Given the description of an element on the screen output the (x, y) to click on. 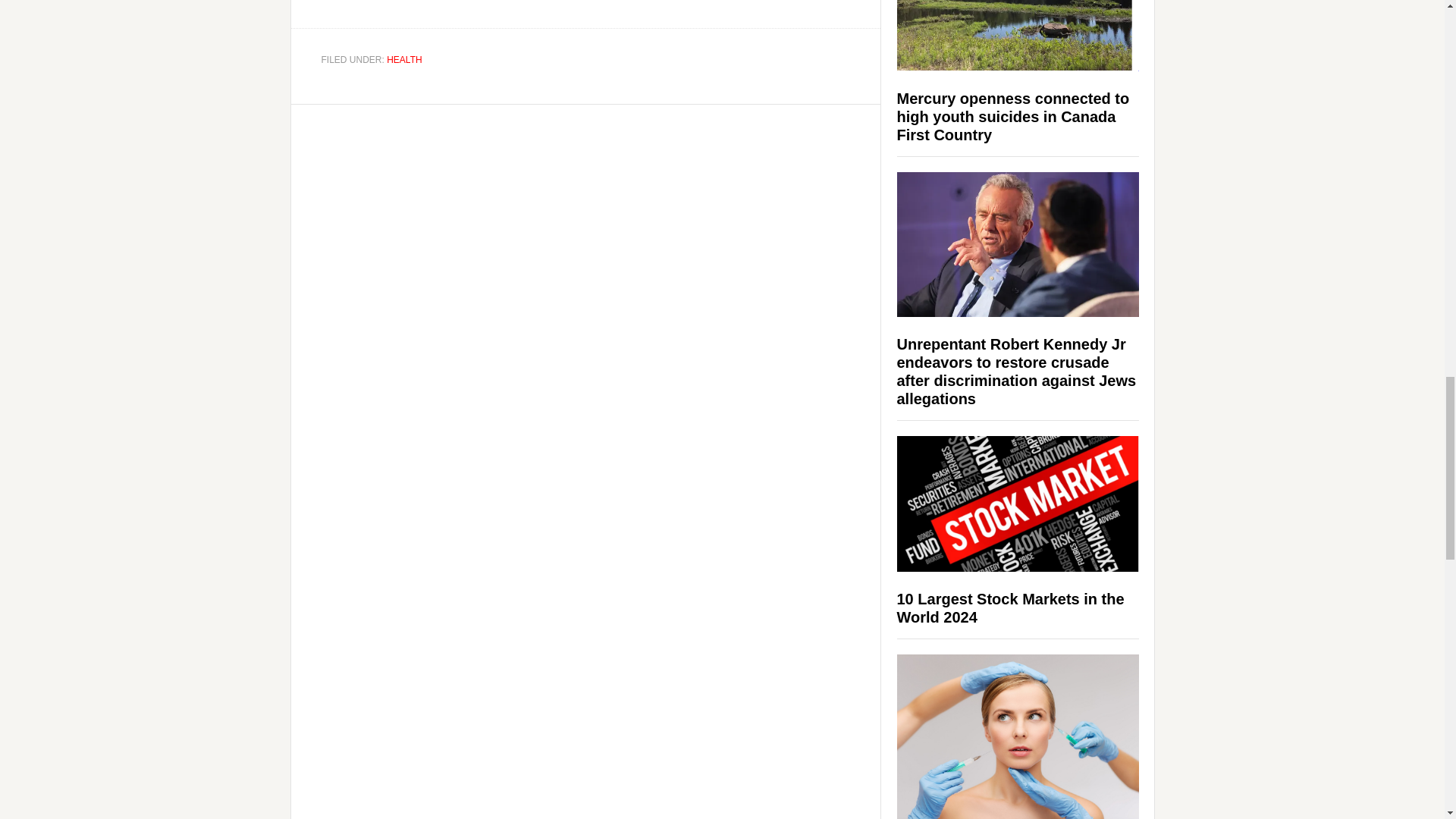
HEALTH (404, 59)
